Given the description of an element on the screen output the (x, y) to click on. 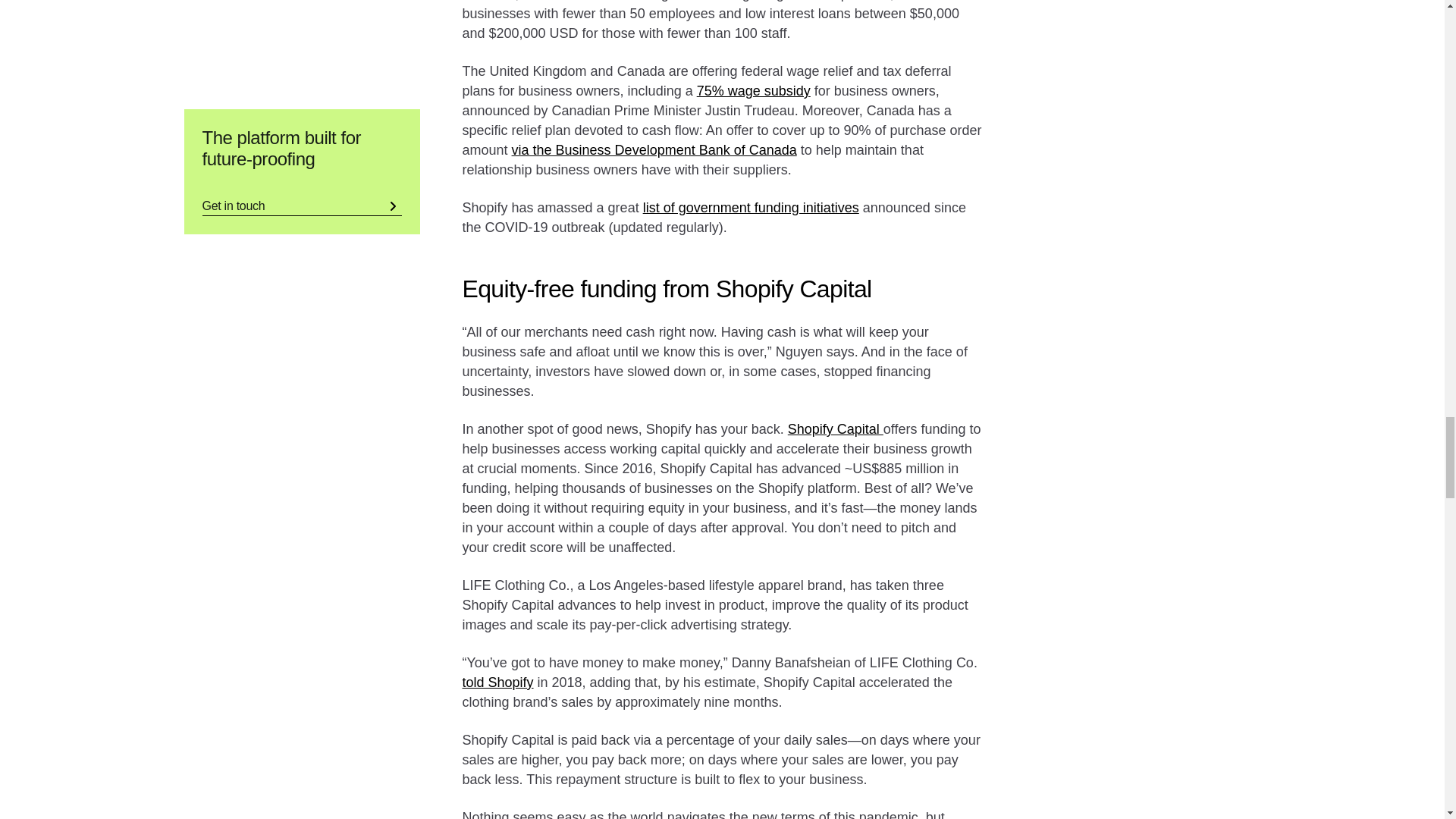
Shopify Capital (835, 428)
